Given the description of an element on the screen output the (x, y) to click on. 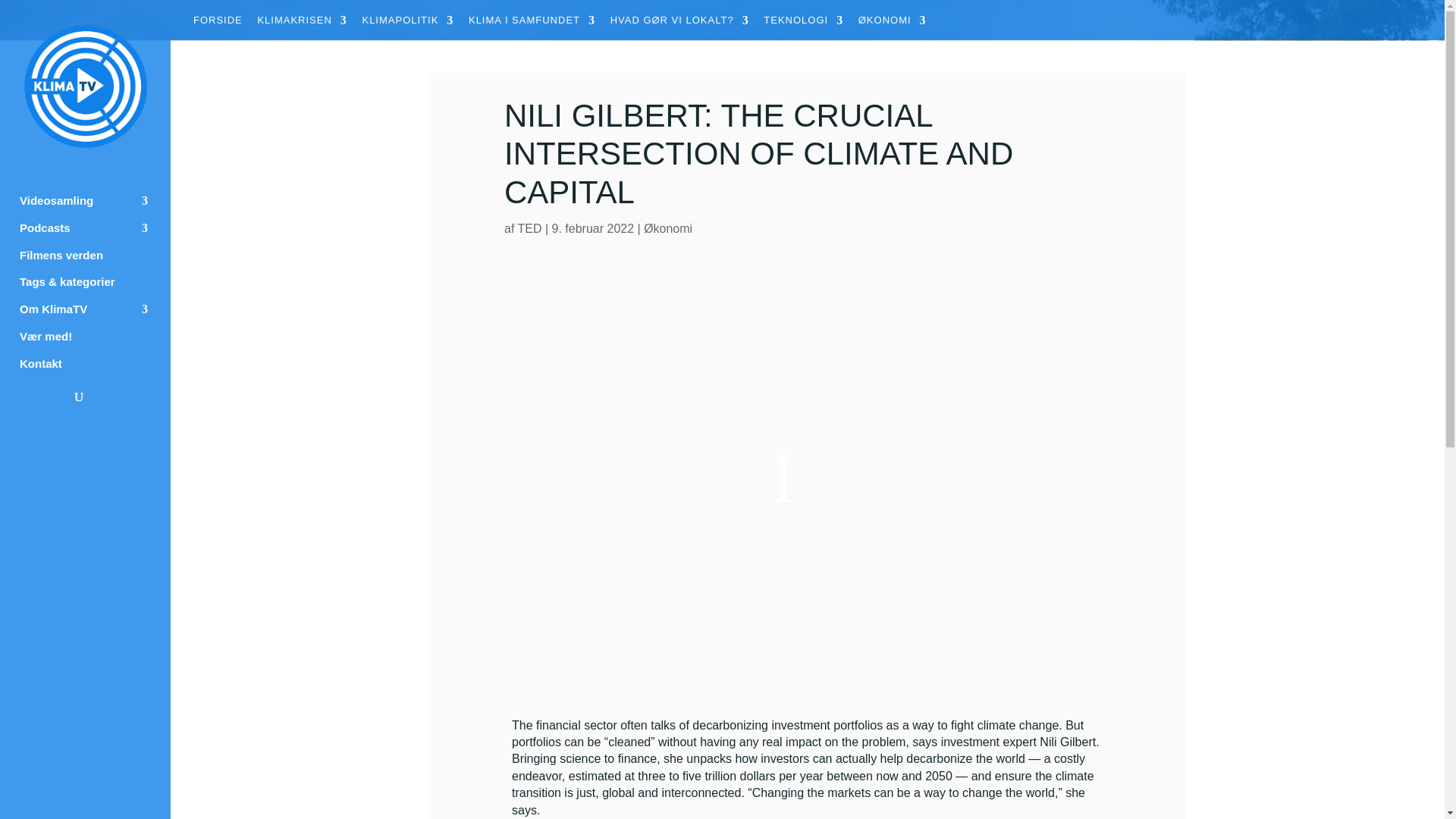
TEKNOLOGI (802, 23)
FORSIDE (218, 23)
KLIMAPOLITIK (406, 23)
KLIMAKRISEN (301, 23)
KLIMA I SAMFUNDET (531, 23)
